Given the description of an element on the screen output the (x, y) to click on. 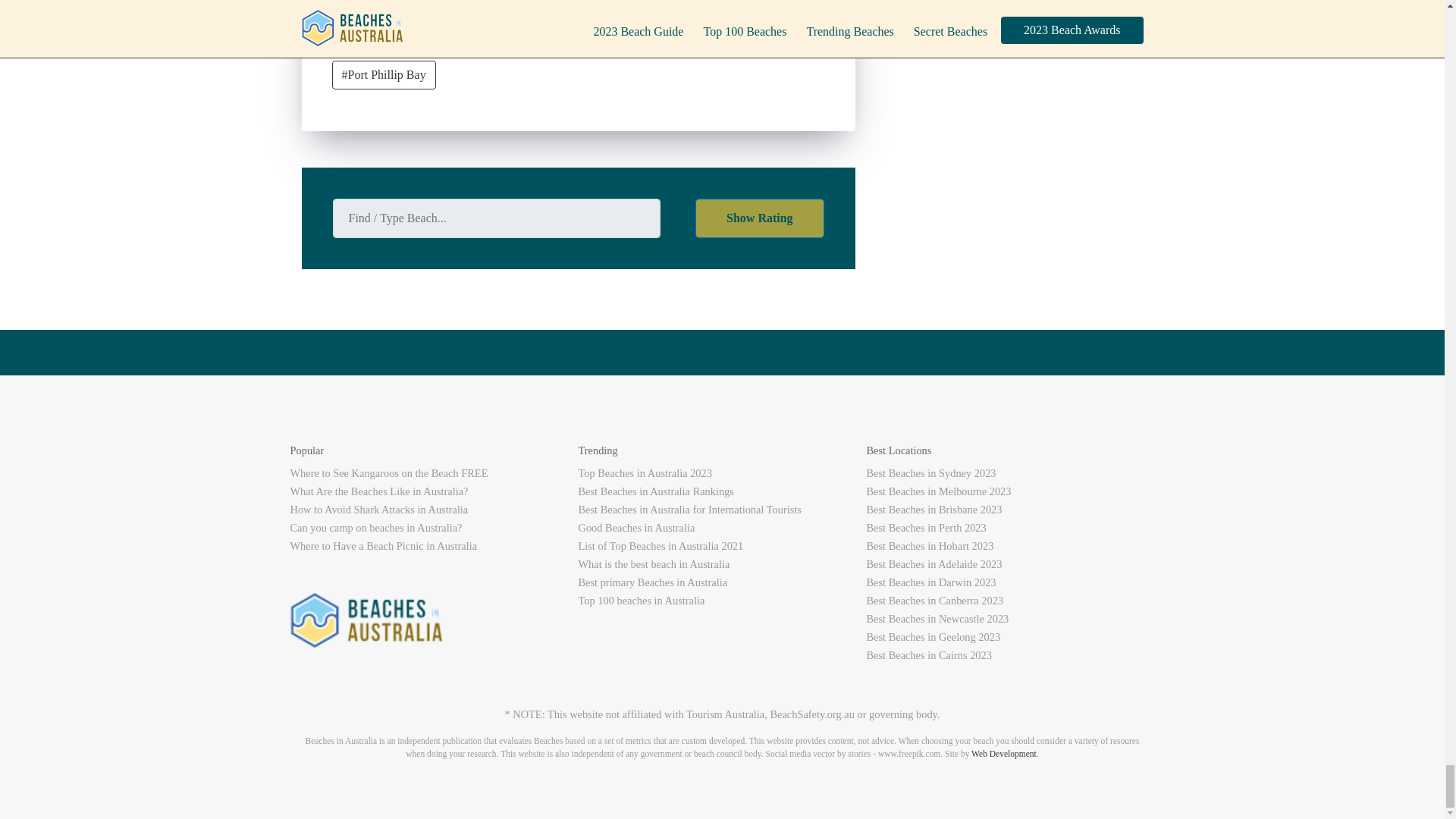
Show Rating (759, 218)
